Given the description of an element on the screen output the (x, y) to click on. 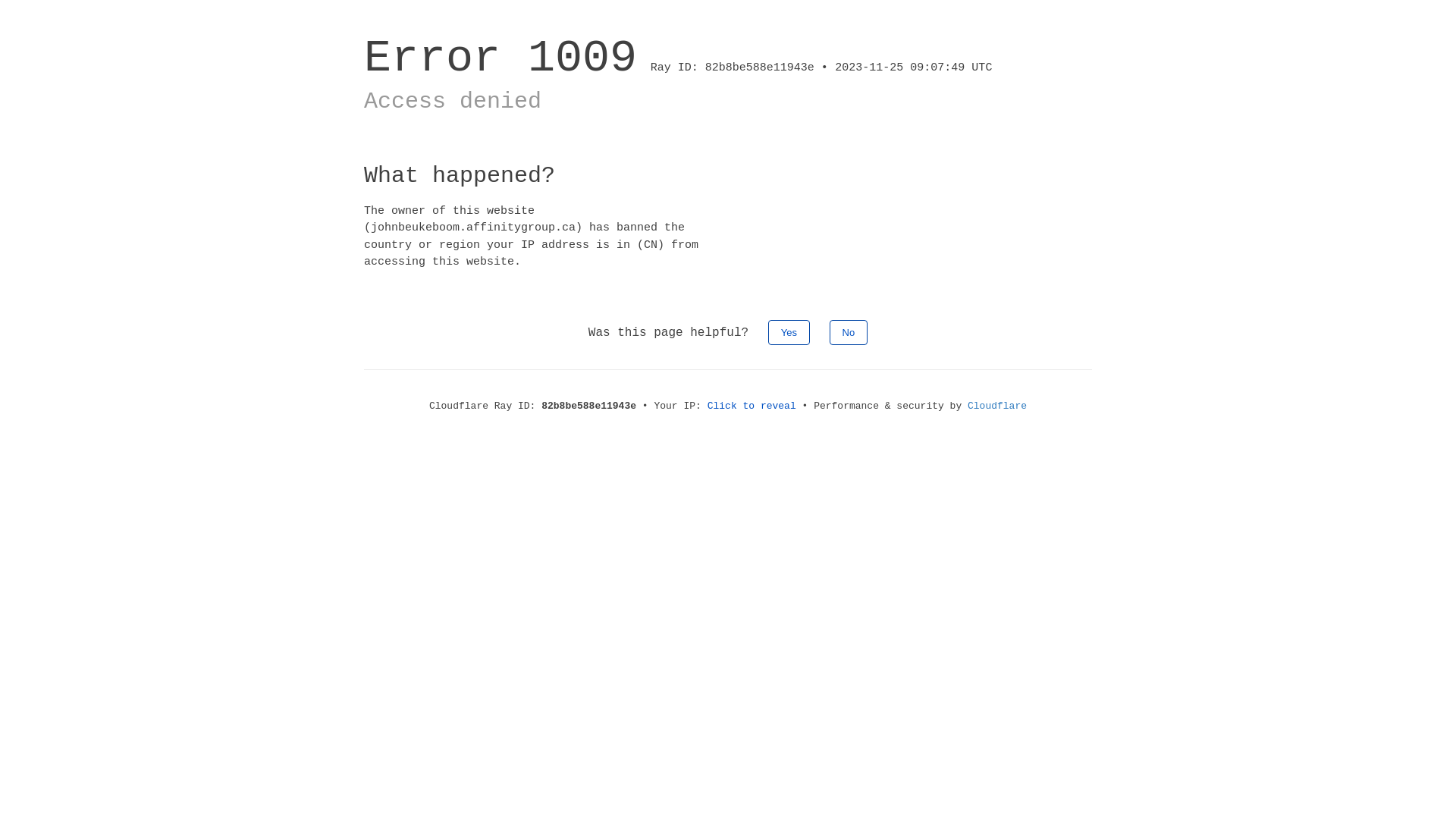
Yes Element type: text (788, 332)
Click to reveal Element type: text (751, 405)
Cloudflare Element type: text (996, 405)
No Element type: text (848, 332)
